Given the description of an element on the screen output the (x, y) to click on. 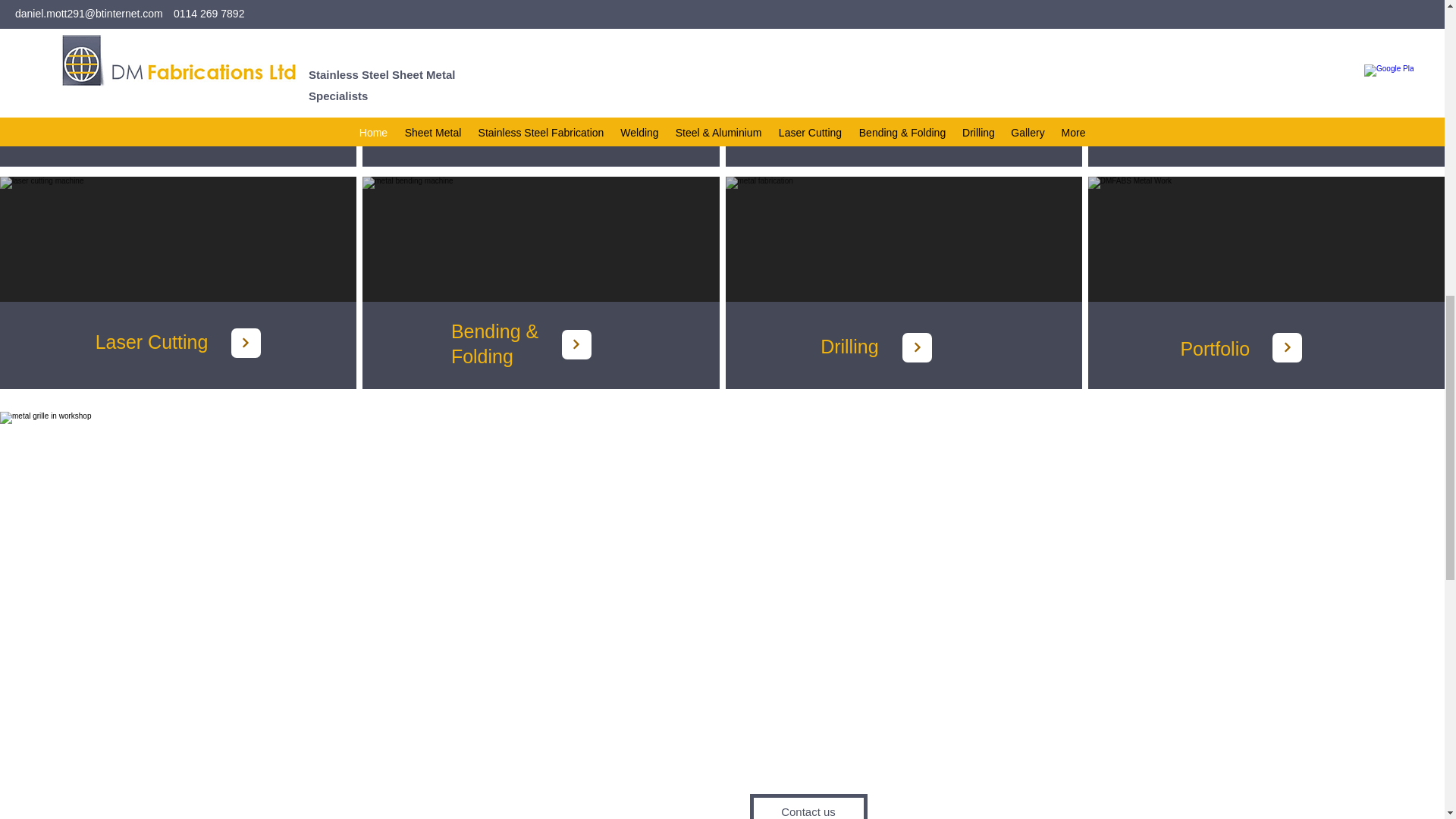
Contact us (807, 806)
